Given the description of an element on the screen output the (x, y) to click on. 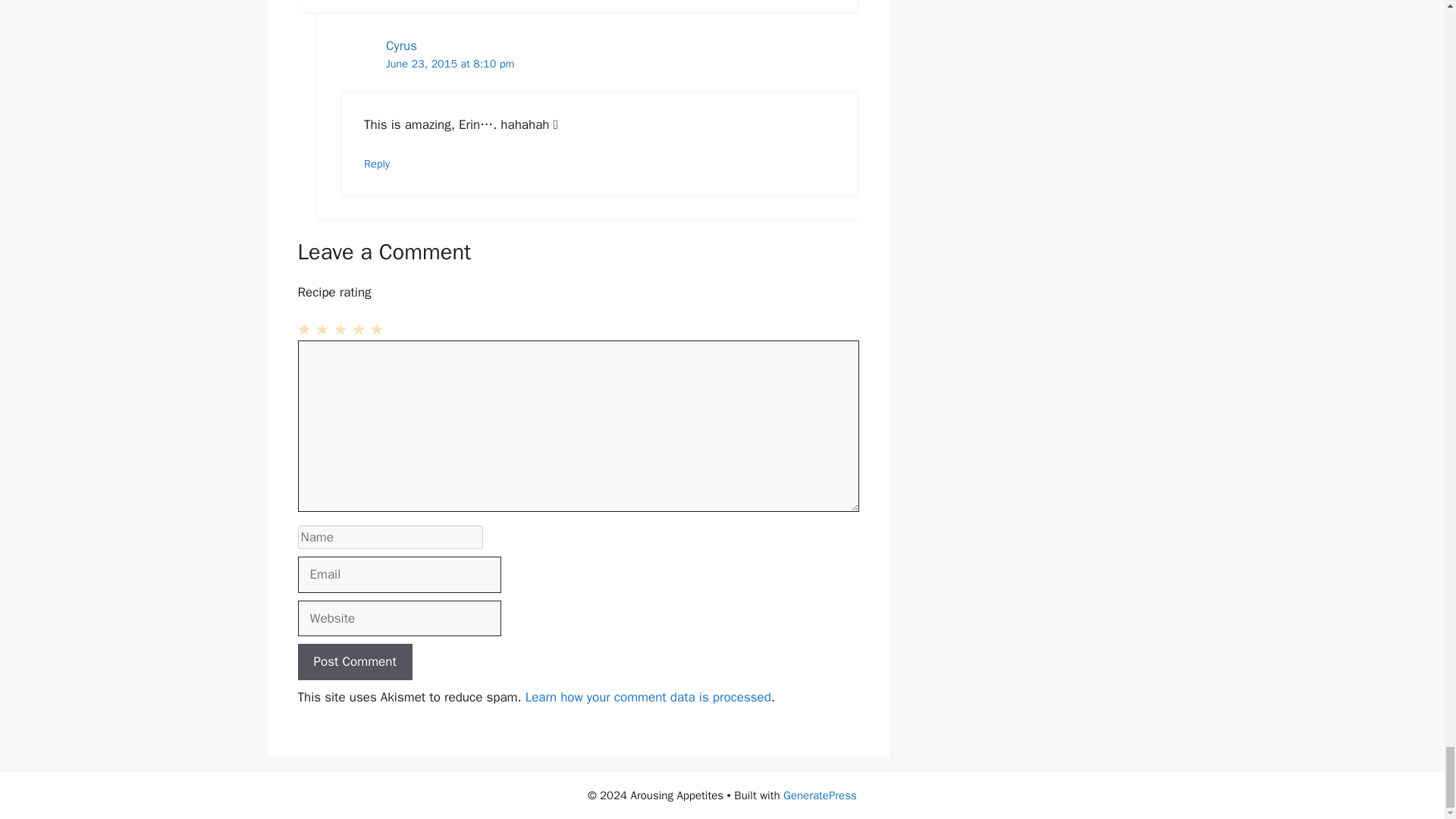
Post Comment (354, 661)
